Given the description of an element on the screen output the (x, y) to click on. 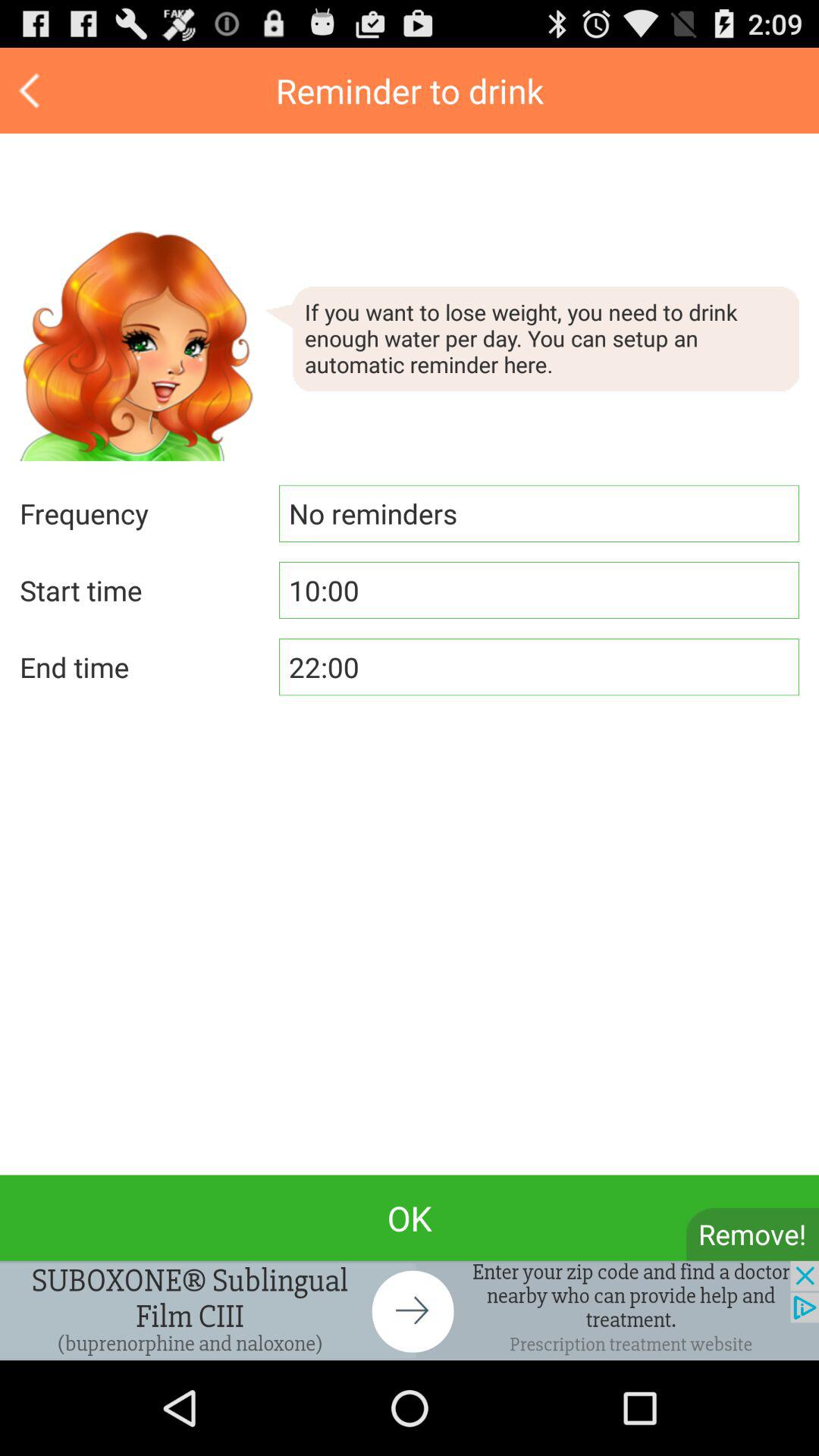
go back (31, 90)
